Given the description of an element on the screen output the (x, y) to click on. 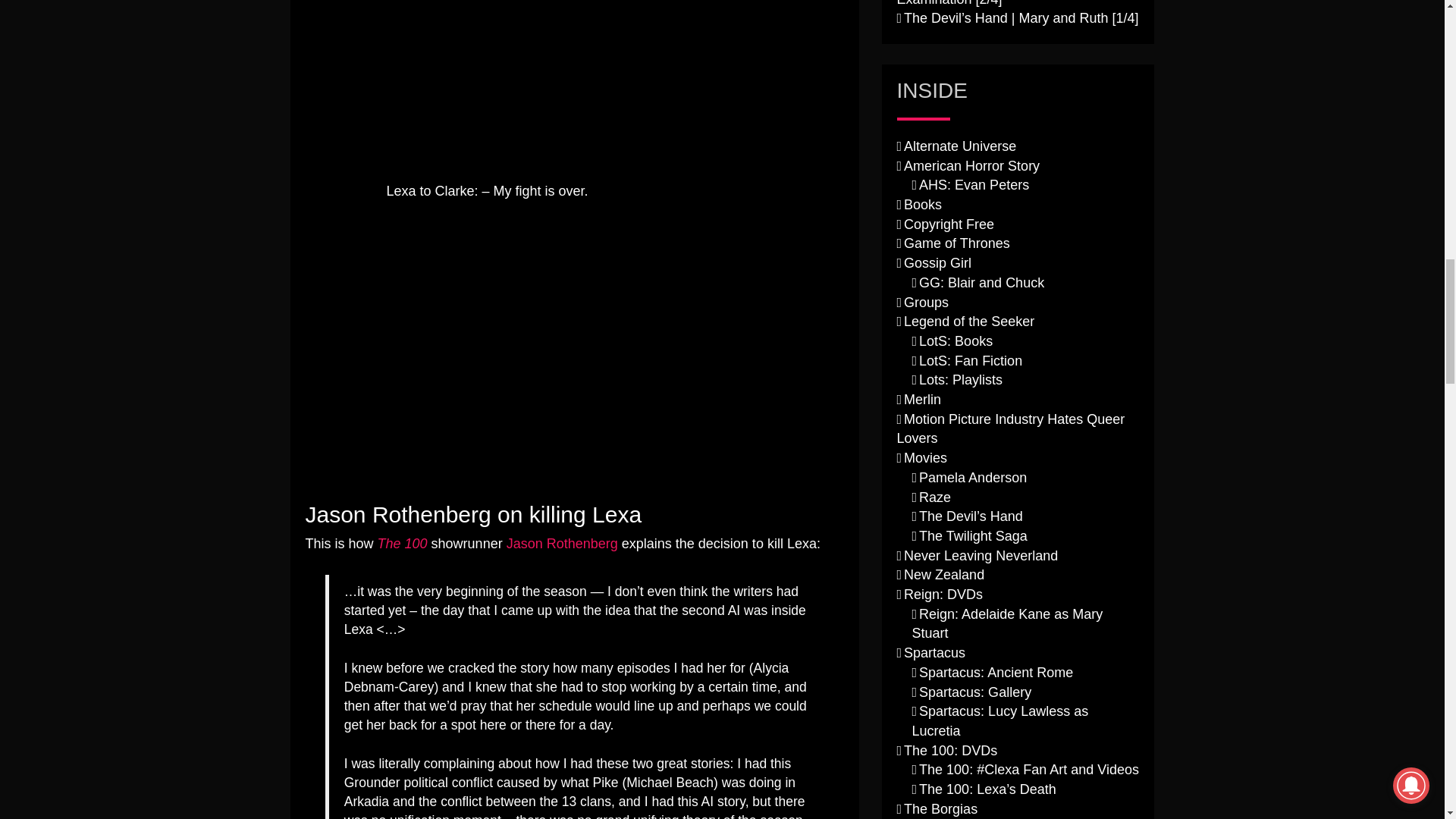
The 100 (402, 543)
lexa's death reaction (486, 85)
Jason Rothenberg (561, 543)
The 100 (402, 543)
